Given the description of an element on the screen output the (x, y) to click on. 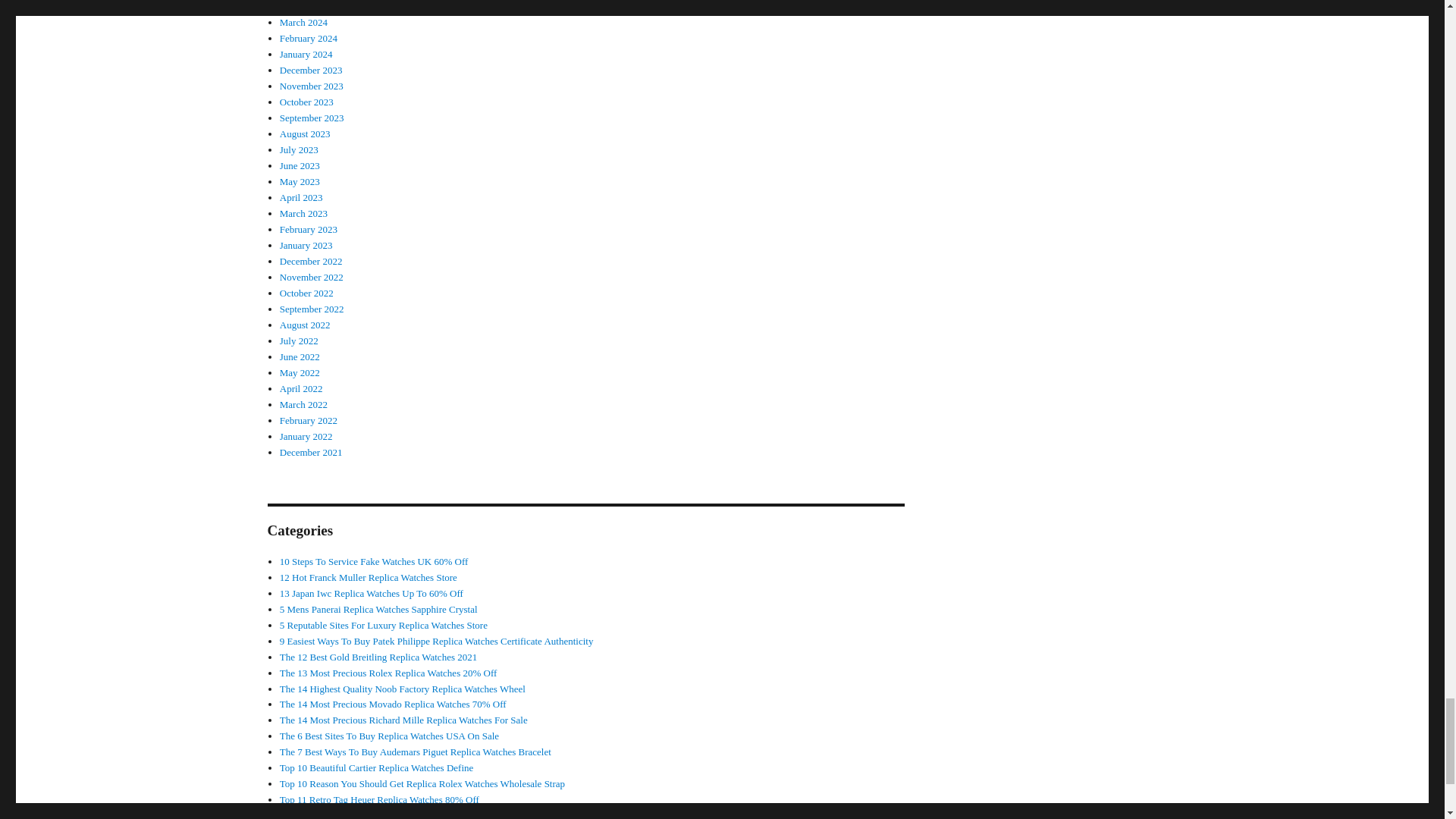
April 2023 (301, 197)
September 2023 (311, 117)
January 2023 (306, 244)
May 2023 (299, 181)
December 2023 (310, 70)
March 2024 (303, 21)
February 2023 (308, 229)
February 2024 (308, 38)
March 2023 (303, 213)
July 2023 (298, 149)
